Given the description of an element on the screen output the (x, y) to click on. 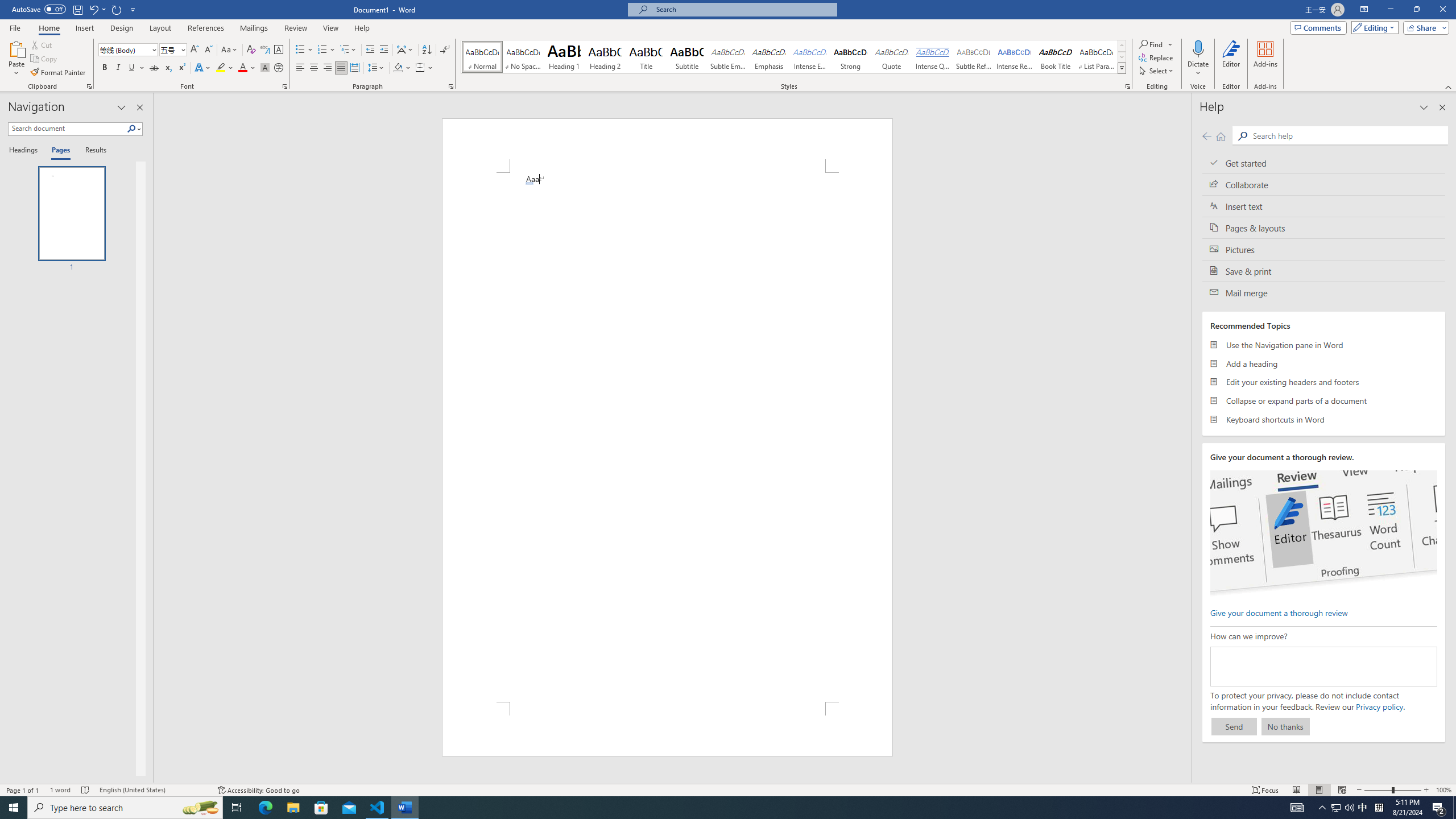
More Options (1197, 68)
Pictures (1323, 249)
Shrink Font (208, 49)
Layout (160, 28)
Undo Style (92, 9)
Cut (42, 44)
Show/Hide Editing Marks (444, 49)
AutoSave (38, 9)
Review (295, 28)
